Given the description of an element on the screen output the (x, y) to click on. 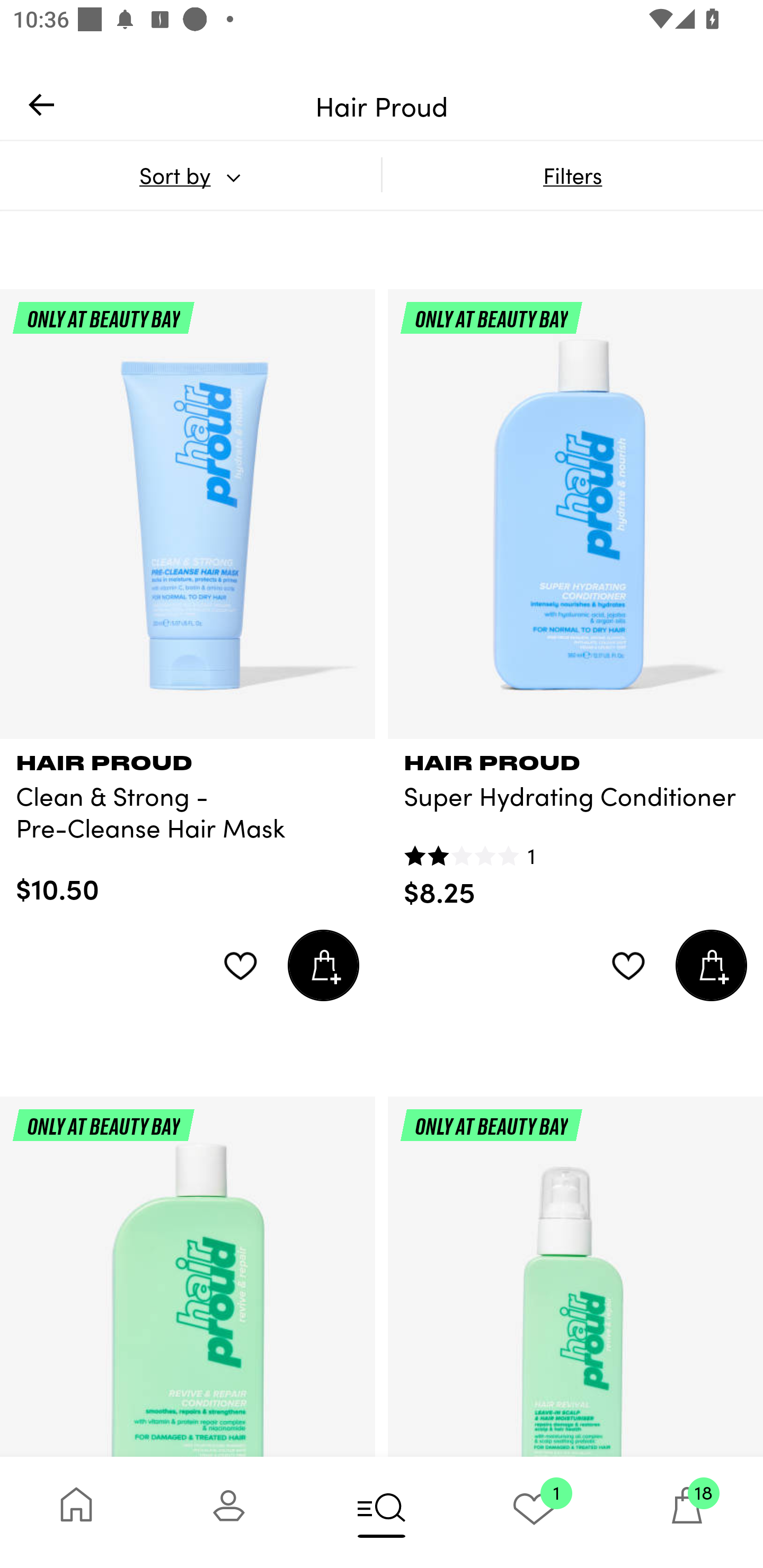
Sort by (190, 174)
Filters (572, 174)
HAIR PROUD Super Hydrating Conditioner 1 $8.25 (575, 824)
1 (533, 1512)
18 (686, 1512)
